Given the description of an element on the screen output the (x, y) to click on. 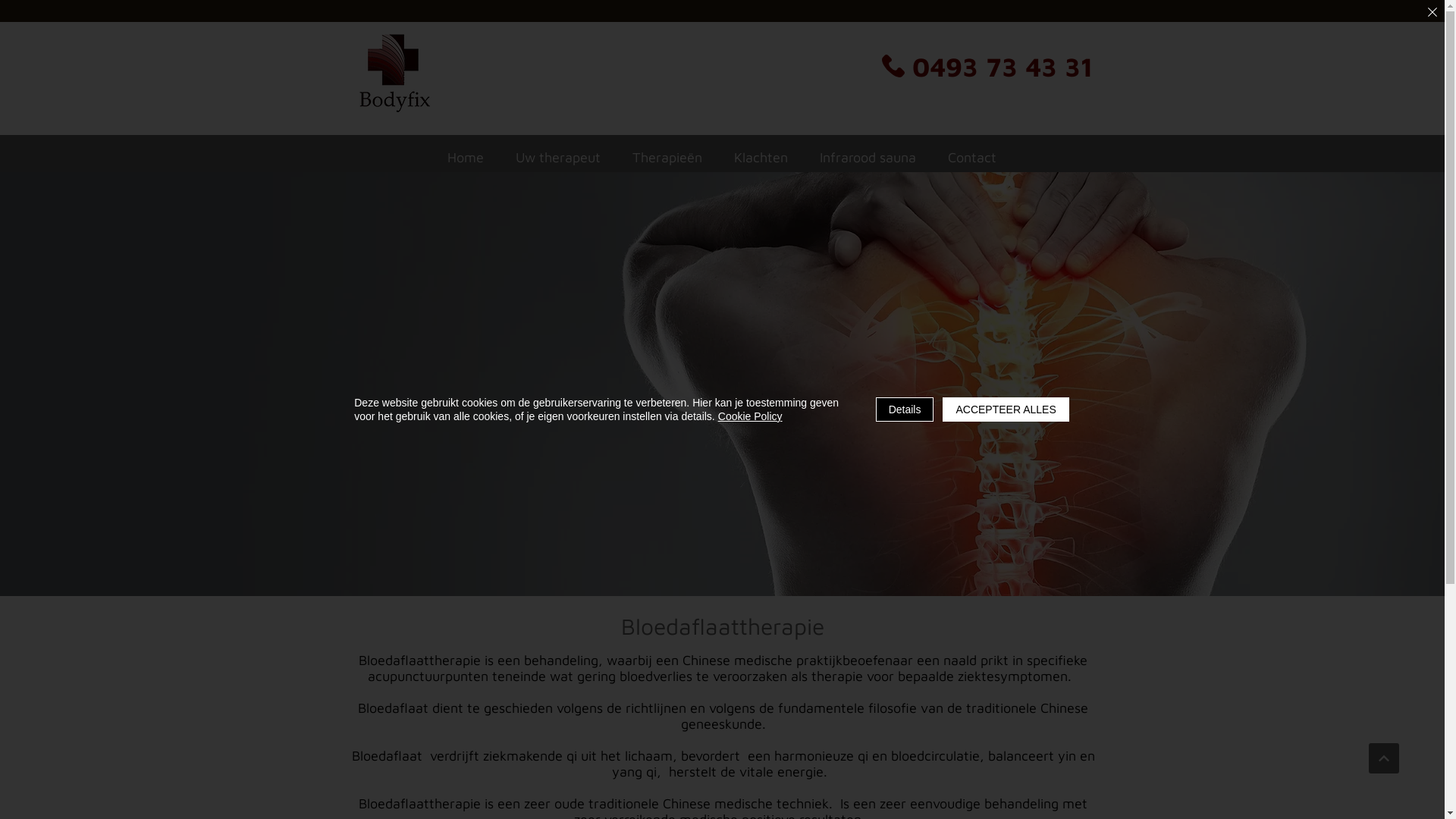
Home Element type: text (464, 156)
ACCEPTEER ALLES Element type: text (1005, 409)
Details Element type: text (904, 409)
0493 73 43 31 Element type: text (986, 65)
Bodyfix Element type: hover (393, 69)
Contact Element type: text (972, 156)
Klachten Element type: text (760, 156)
Cookie Policy Element type: text (750, 416)
Uw therapeut Element type: text (557, 156)
Infrarood sauna Element type: text (867, 156)
